Given the description of an element on the screen output the (x, y) to click on. 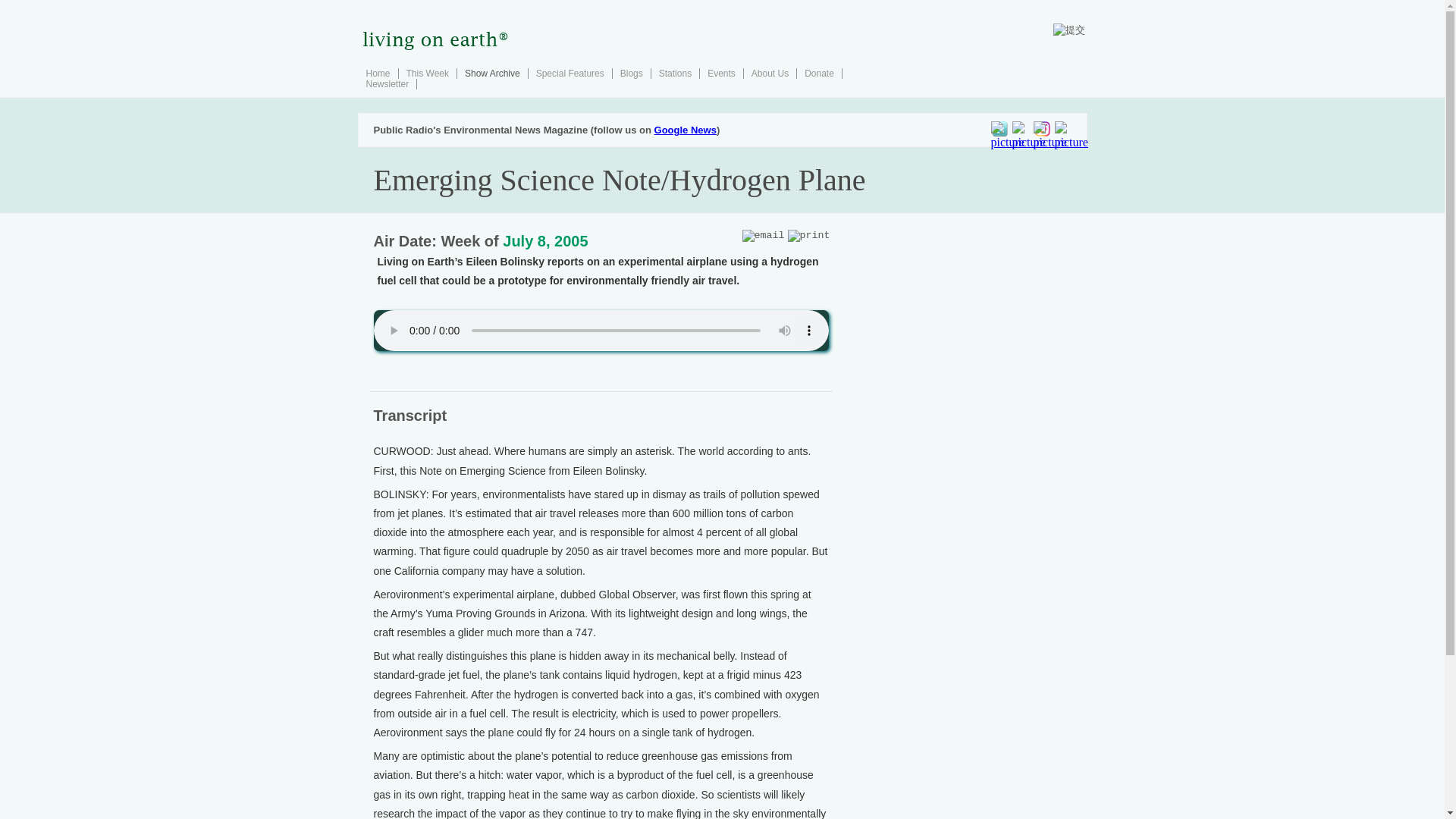
print (808, 235)
Home (377, 72)
Google News (684, 129)
Newsletter (387, 83)
Donate (819, 72)
Special Features (569, 72)
Show Archive (491, 72)
Stations (675, 72)
This Week (427, 72)
About Us (770, 72)
